Given the description of an element on the screen output the (x, y) to click on. 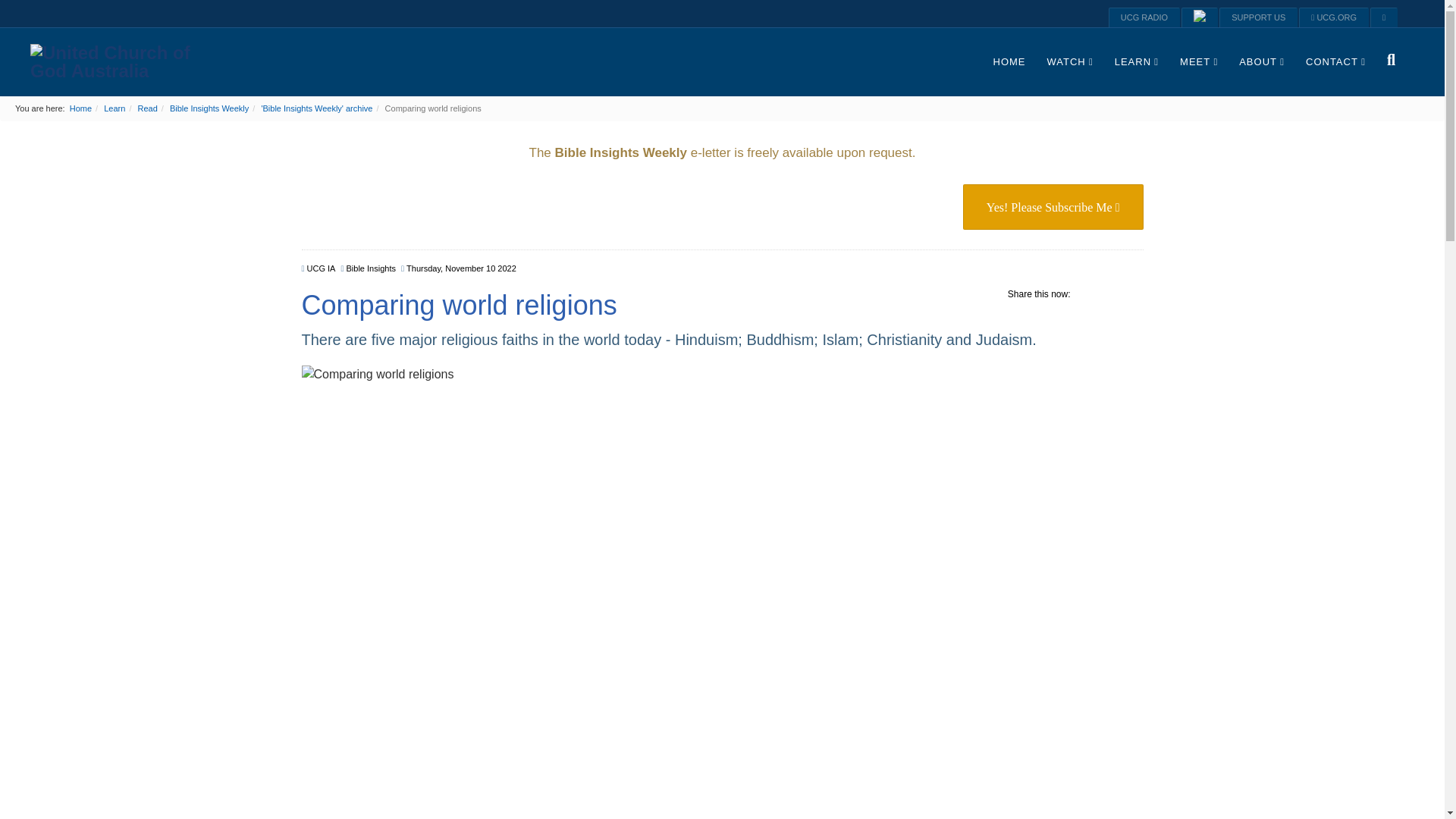
UCG RADIO (1143, 17)
Watch (1069, 61)
WATCH (1069, 61)
Recommend this Page (1133, 297)
LEARN (1136, 61)
UCG.ORG (1333, 17)
SUPPORT US (1258, 17)
Add this Page to Facebook (1087, 297)
Add this Page to Twitter (1109, 297)
